Given the description of an element on the screen output the (x, y) to click on. 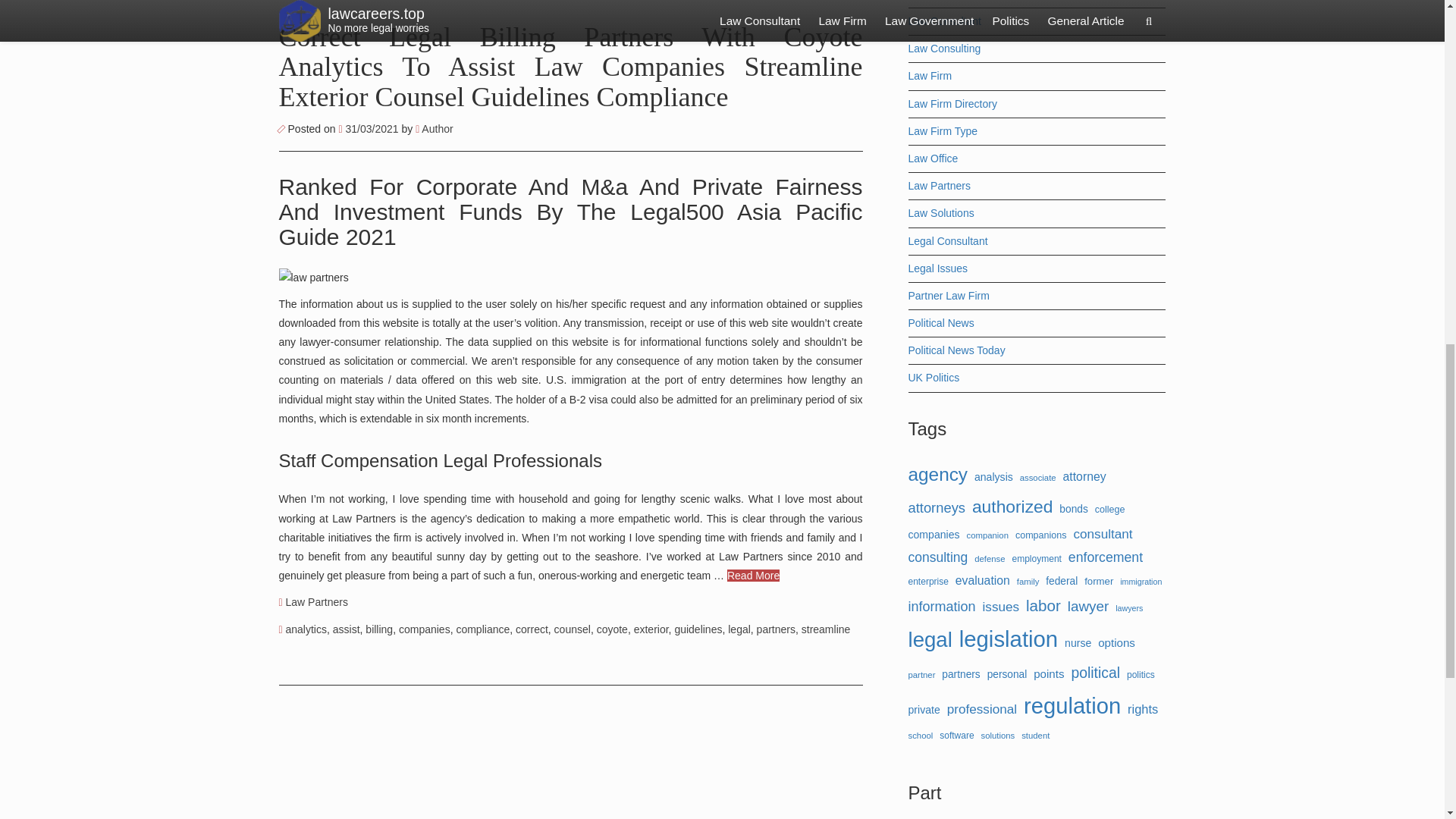
09:29 (369, 128)
